Given the description of an element on the screen output the (x, y) to click on. 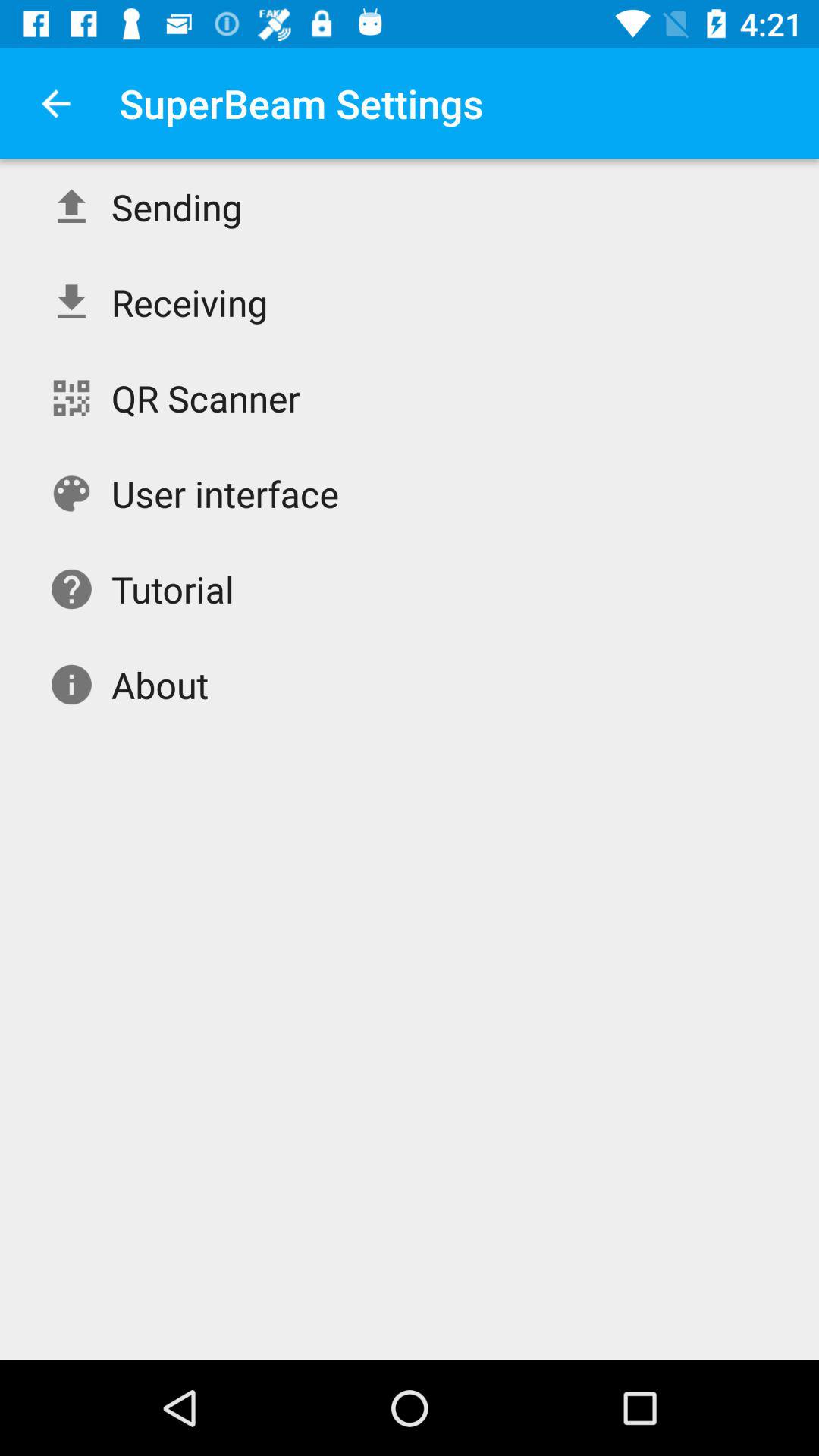
swipe to the sending (176, 206)
